Given the description of an element on the screen output the (x, y) to click on. 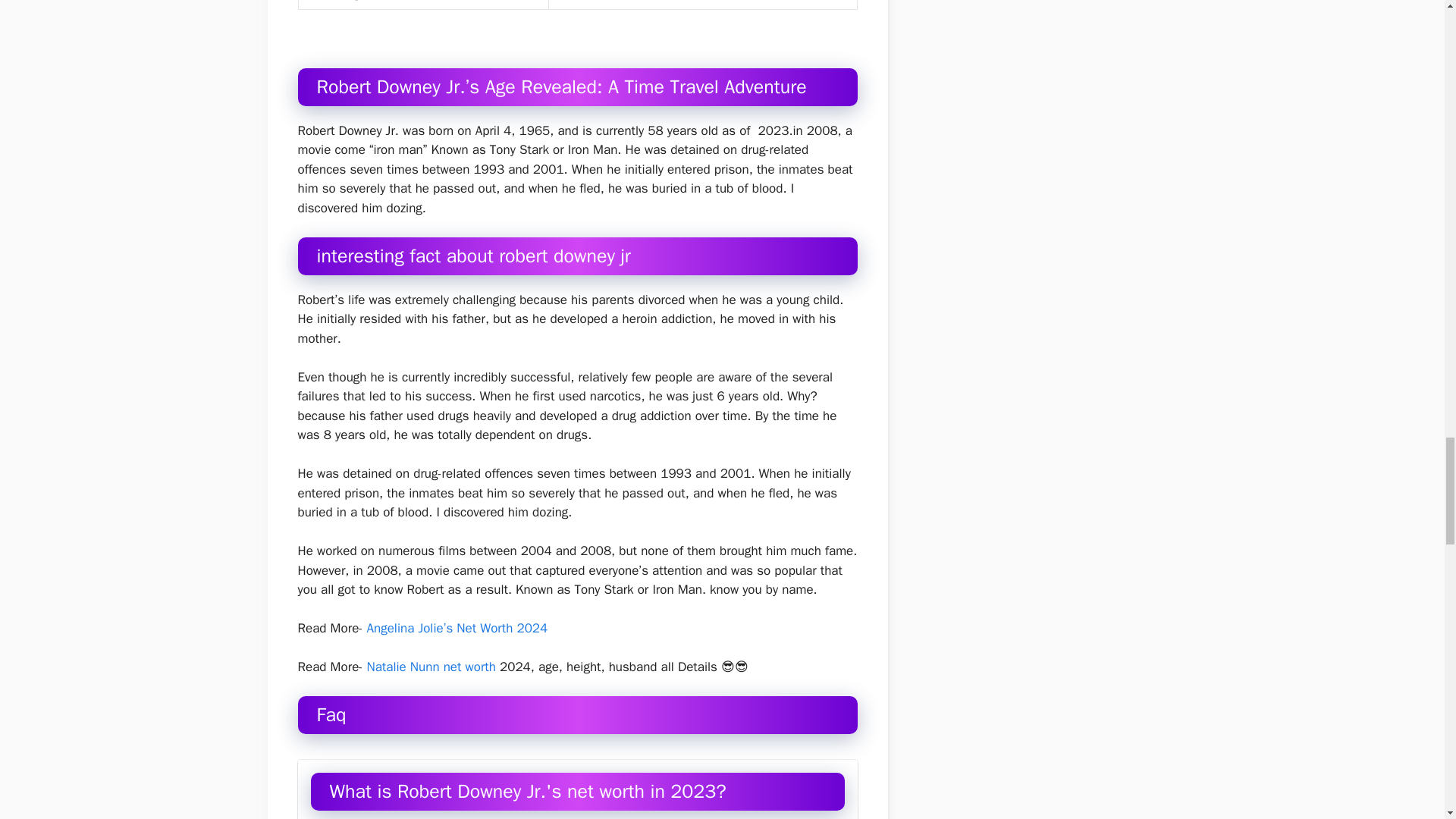
IRON MAN 4 (589, 0)
Natalie Nunn net worth (431, 666)
